Given the description of an element on the screen output the (x, y) to click on. 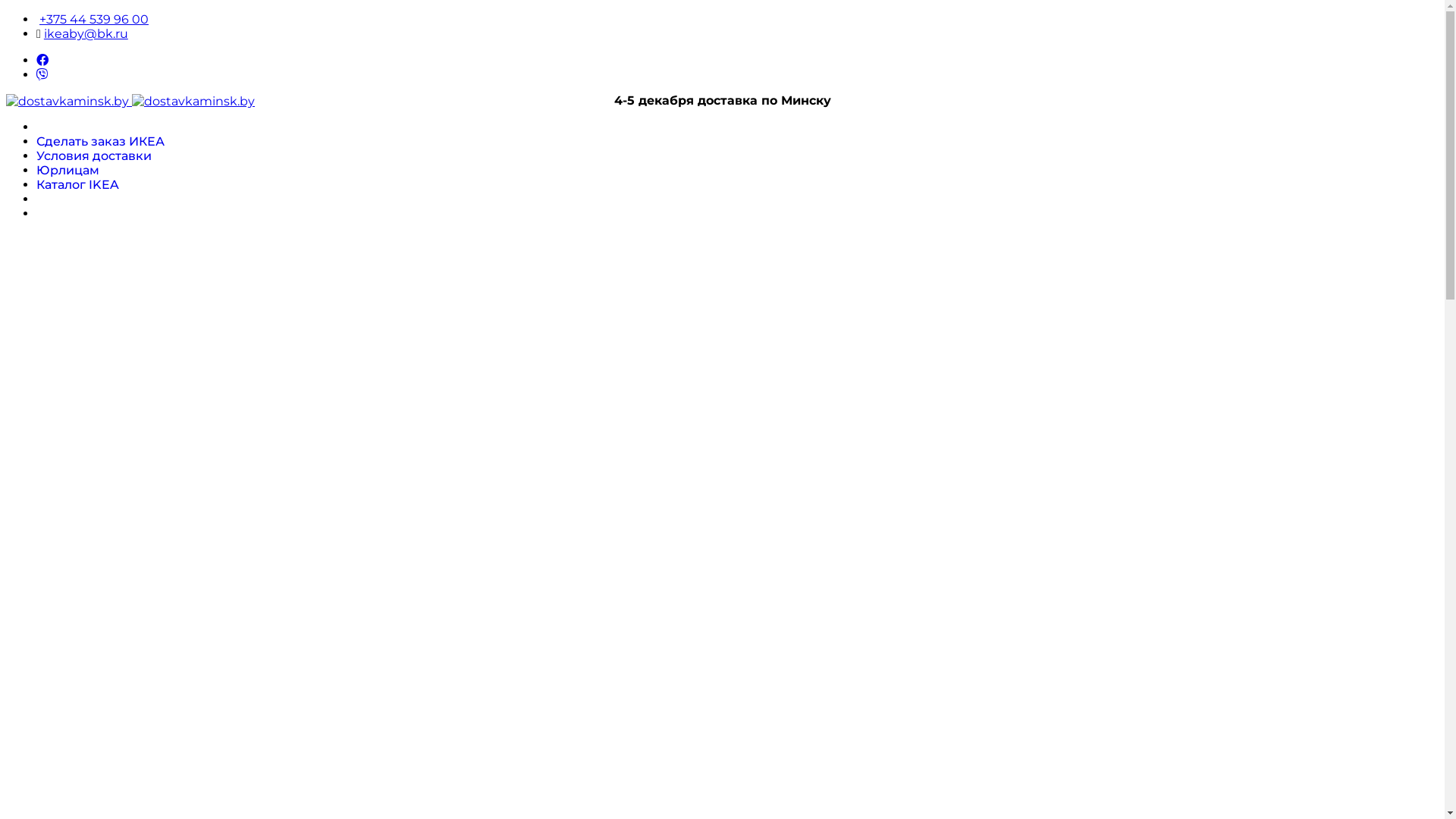
ikeaby@bk.ru Element type: text (85, 33)
+375 44 539 96 00 Element type: text (93, 19)
